Given the description of an element on the screen output the (x, y) to click on. 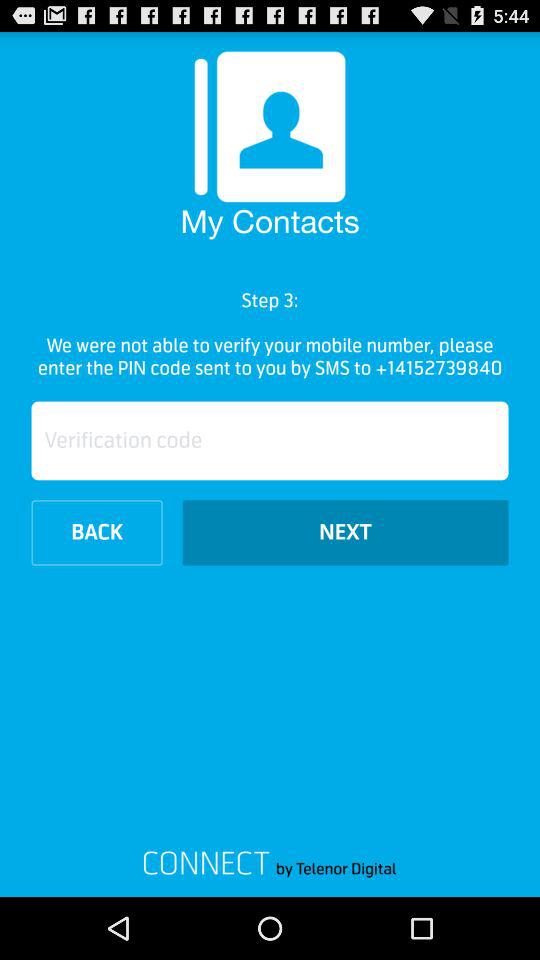
select the icon on the left (96, 532)
